Given the description of an element on the screen output the (x, y) to click on. 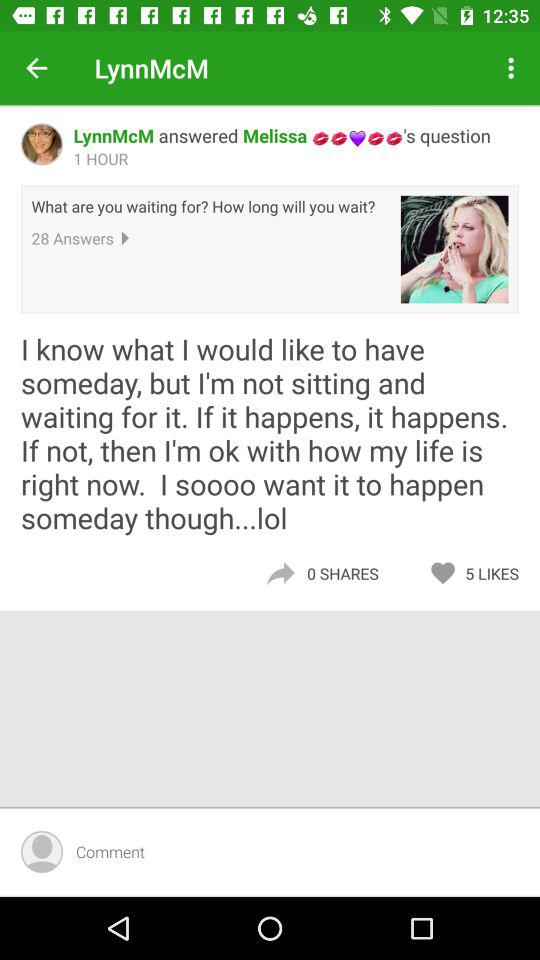
open icon to the right of what are you (454, 249)
